Given the description of an element on the screen output the (x, y) to click on. 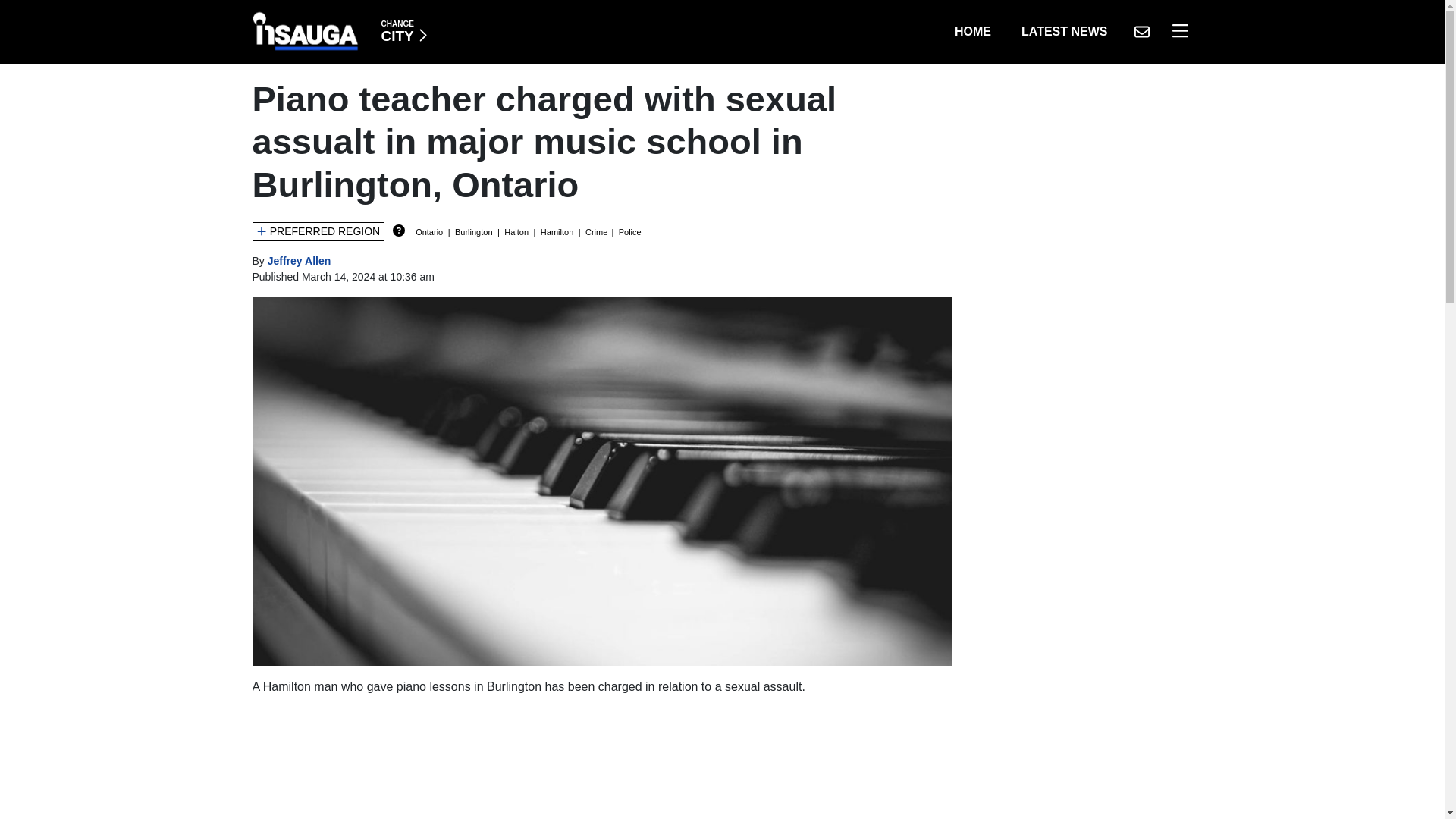
HOME (972, 31)
SIGN UP FOR OUR NEWSLETTER (402, 31)
LATEST NEWS (1141, 31)
Posts by 944 (1064, 31)
3rd party ad content (299, 260)
OPEN MENU (601, 763)
